Given the description of an element on the screen output the (x, y) to click on. 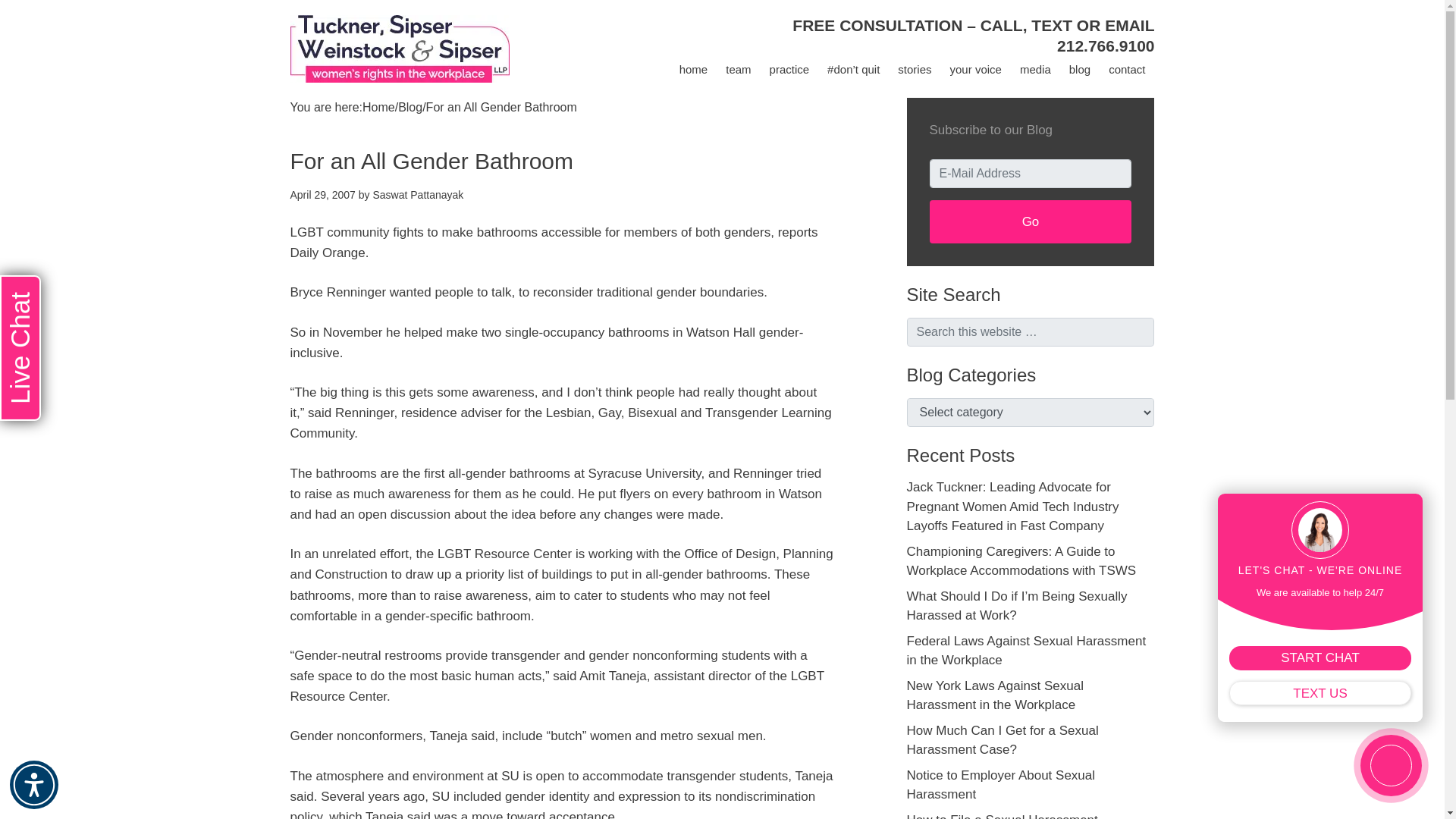
team (738, 69)
Team (738, 69)
EMAIL (1129, 25)
Accessibility Menu (34, 784)
212.766.9100 (1105, 45)
Practice (789, 69)
CALL (1001, 25)
Home (693, 69)
Go (1031, 221)
TEXT (1050, 25)
home (693, 69)
practice (789, 69)
